Given the description of an element on the screen output the (x, y) to click on. 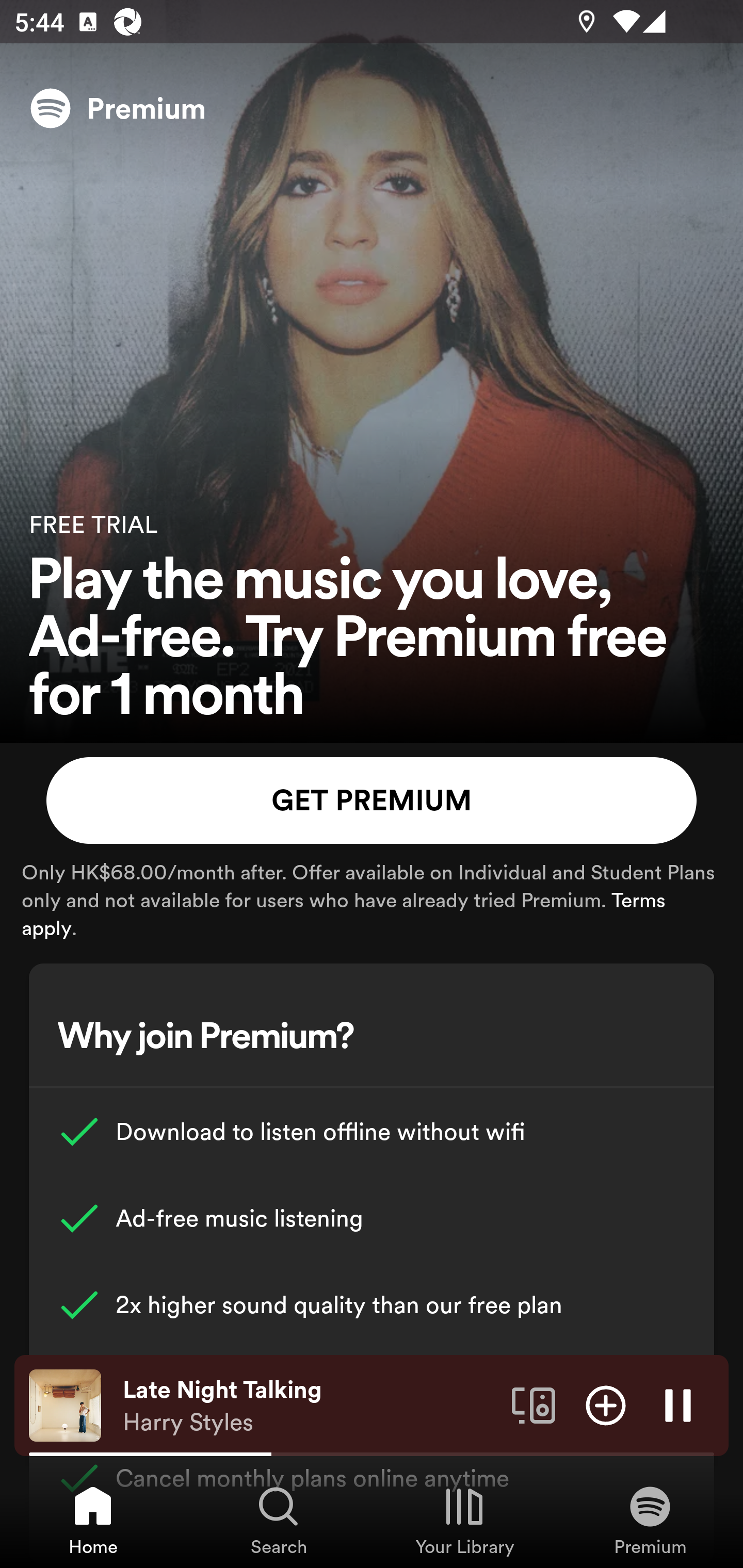
GET PREMIUM (371, 800)
Late Night Talking Harry Styles (309, 1405)
The cover art of the currently playing track (64, 1404)
Connect to a device. Opens the devices menu (533, 1404)
Add item (605, 1404)
Pause (677, 1404)
Home, Tab 1 of 4 Home Home (92, 1519)
Search, Tab 2 of 4 Search Search (278, 1519)
Your Library, Tab 3 of 4 Your Library Your Library (464, 1519)
Premium, Tab 4 of 4 Premium Premium (650, 1519)
